Given the description of an element on the screen output the (x, y) to click on. 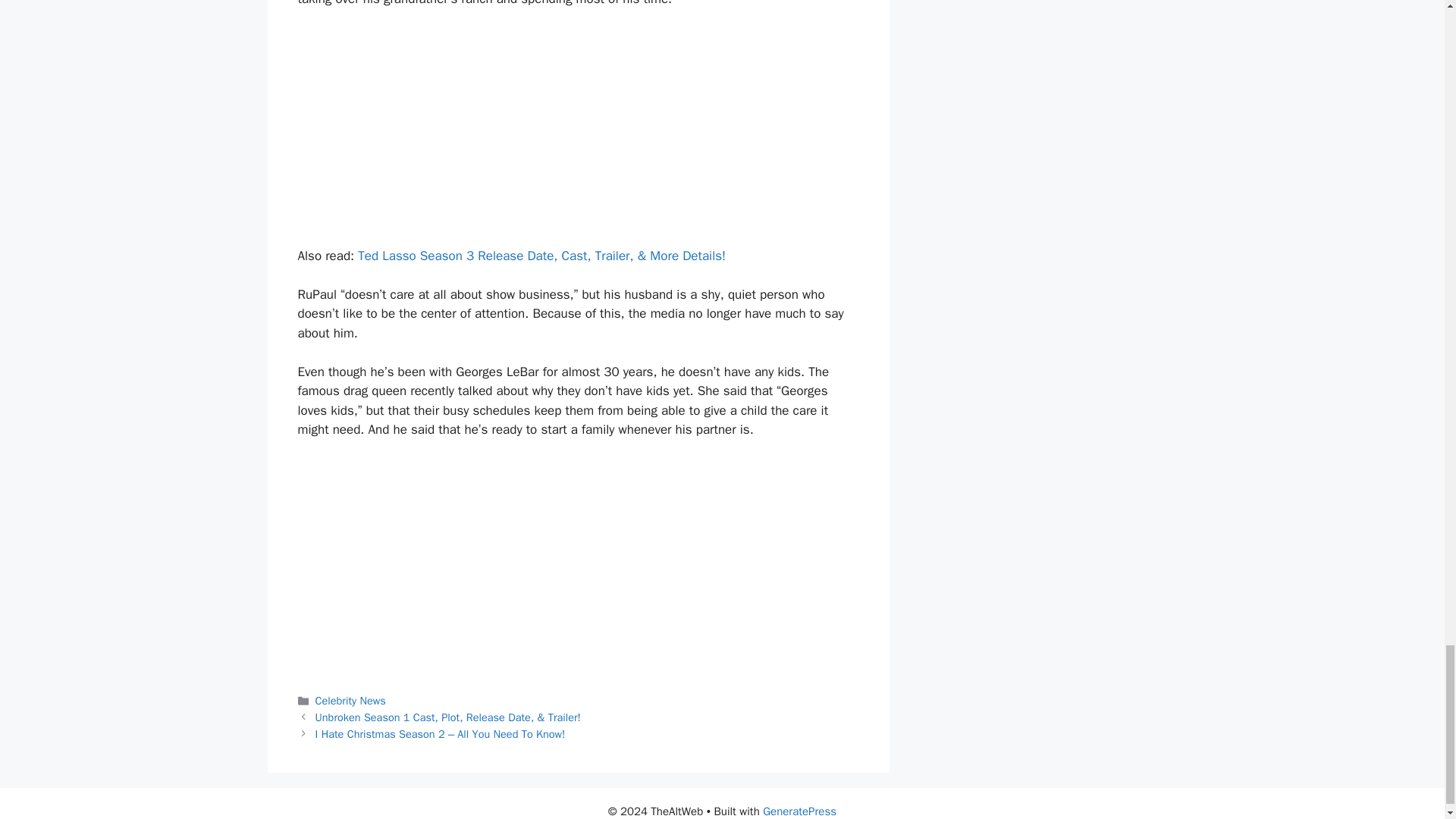
Previous (447, 716)
Celebrity News (350, 700)
Next (440, 734)
